Given the description of an element on the screen output the (x, y) to click on. 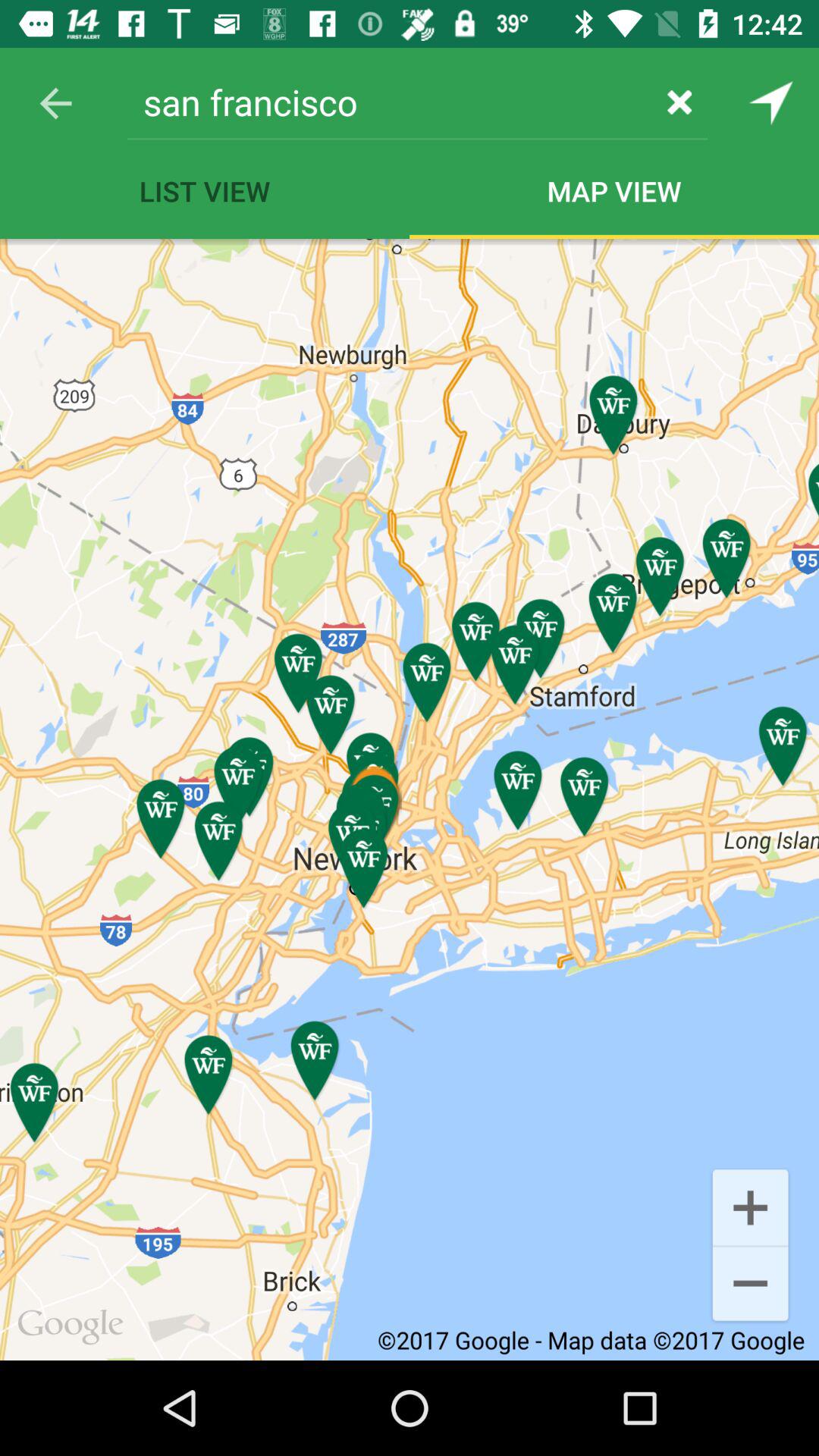
turn off item above list view (389, 102)
